Given the description of an element on the screen output the (x, y) to click on. 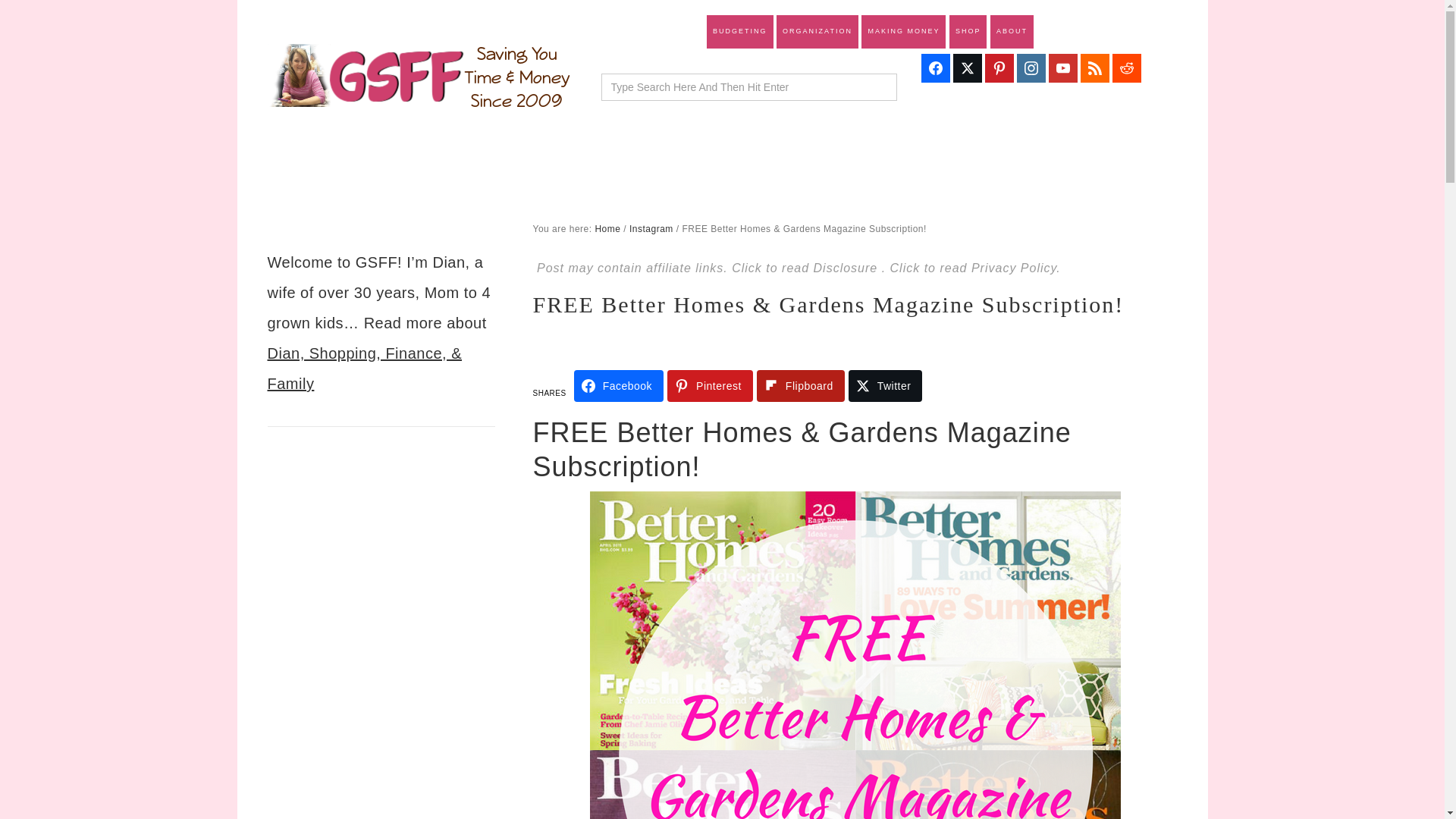
BUDGETING (739, 31)
Disclosure (847, 267)
Share on Flipboard (800, 386)
Share on Pinterest (709, 386)
ABOUT (1011, 31)
Share on Facebook (618, 386)
Share on Twitter (885, 386)
MAKING MONEY (902, 31)
Facebook (618, 386)
Pinterest (709, 386)
Home (607, 228)
Instagram (650, 228)
Flipboard (800, 386)
Twitter (885, 386)
GSFF (418, 75)
